Given the description of an element on the screen output the (x, y) to click on. 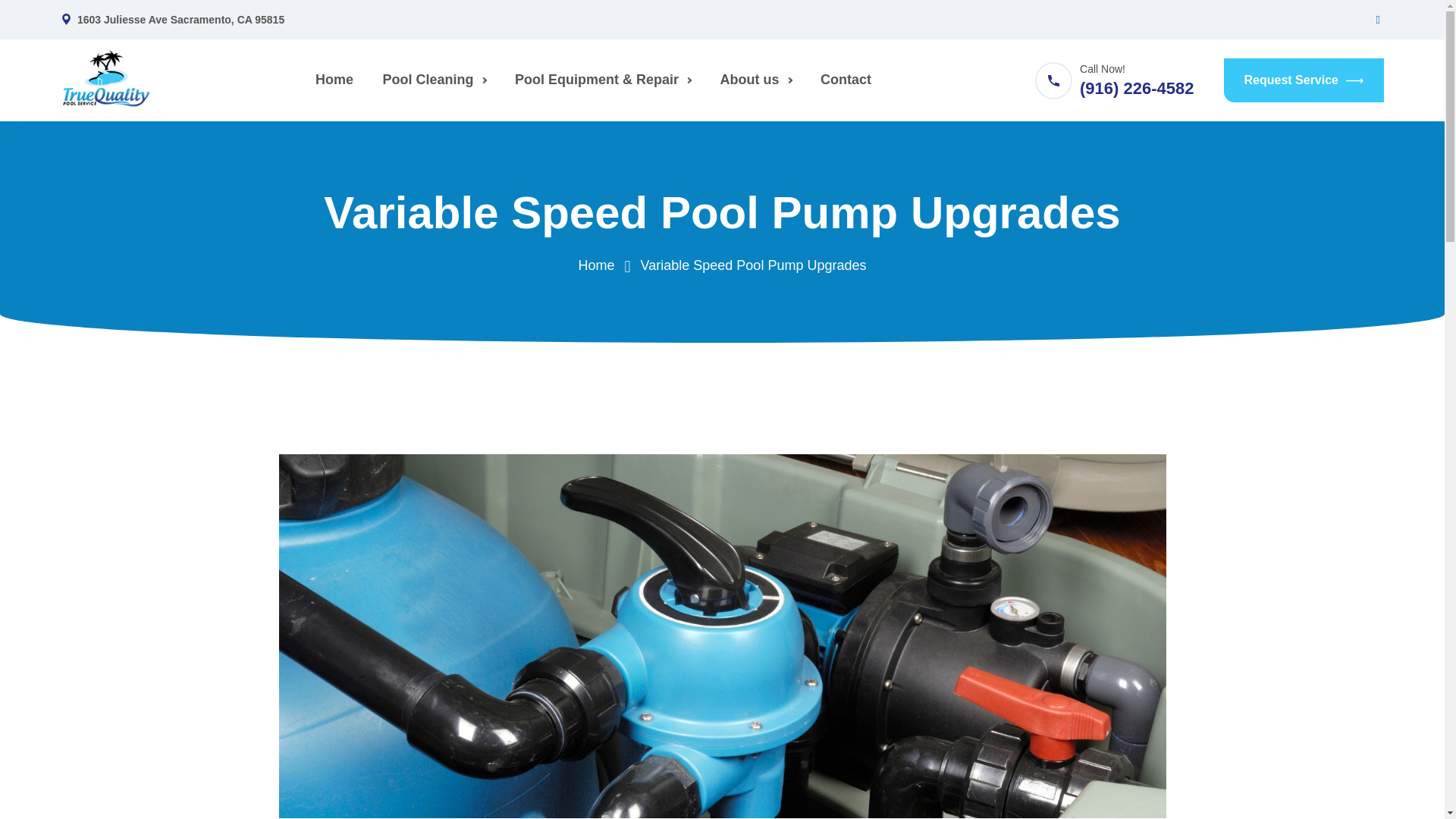
Pool Cleaning (434, 80)
Request Service (1304, 80)
About us (754, 80)
Home (334, 80)
Contact (845, 80)
